Given the description of an element on the screen output the (x, y) to click on. 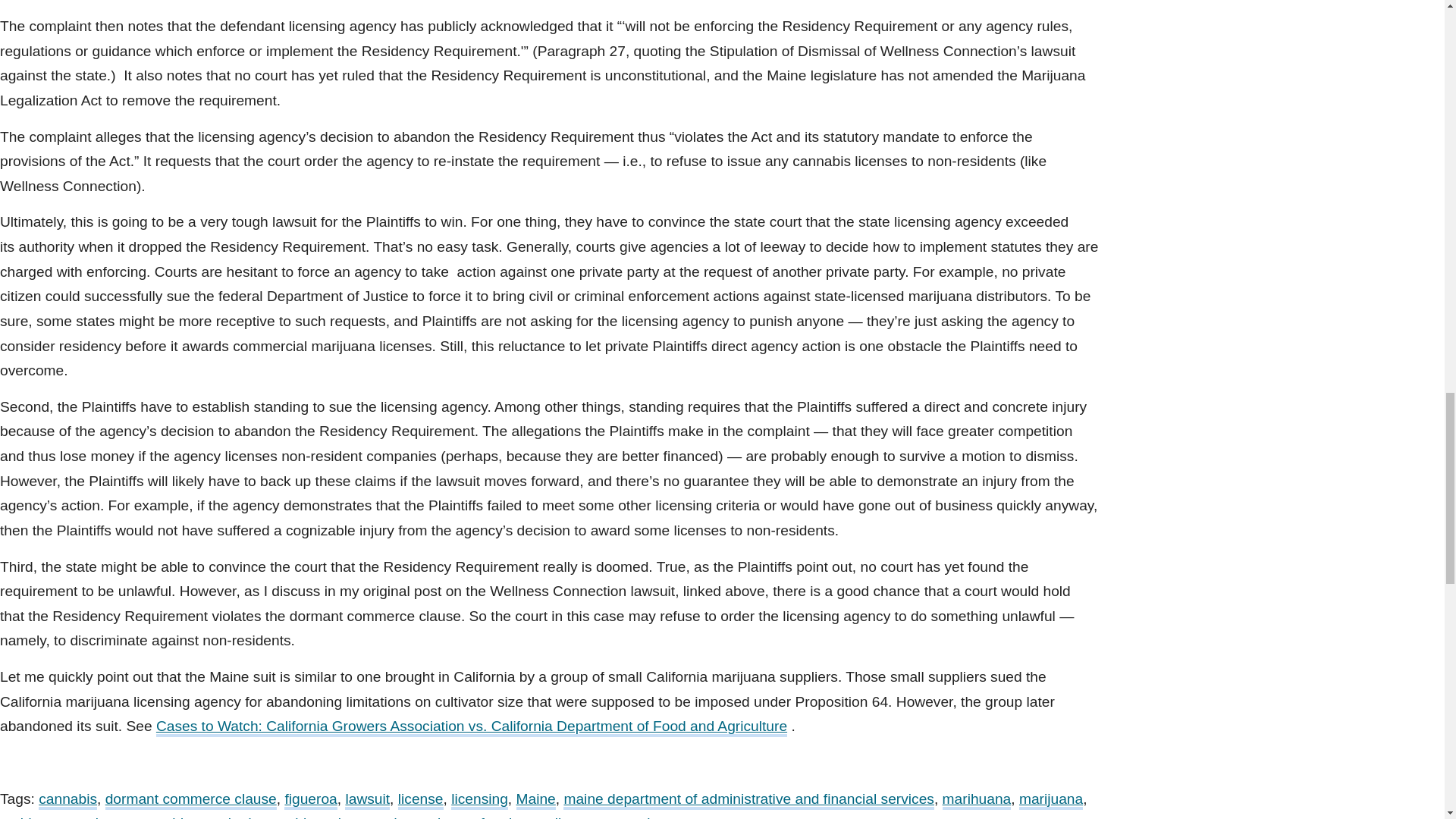
lawsuit (367, 800)
dormant commerce clause (190, 800)
licensing (479, 800)
figueroa (309, 800)
license (420, 800)
cannabis (68, 800)
